Given the description of an element on the screen output the (x, y) to click on. 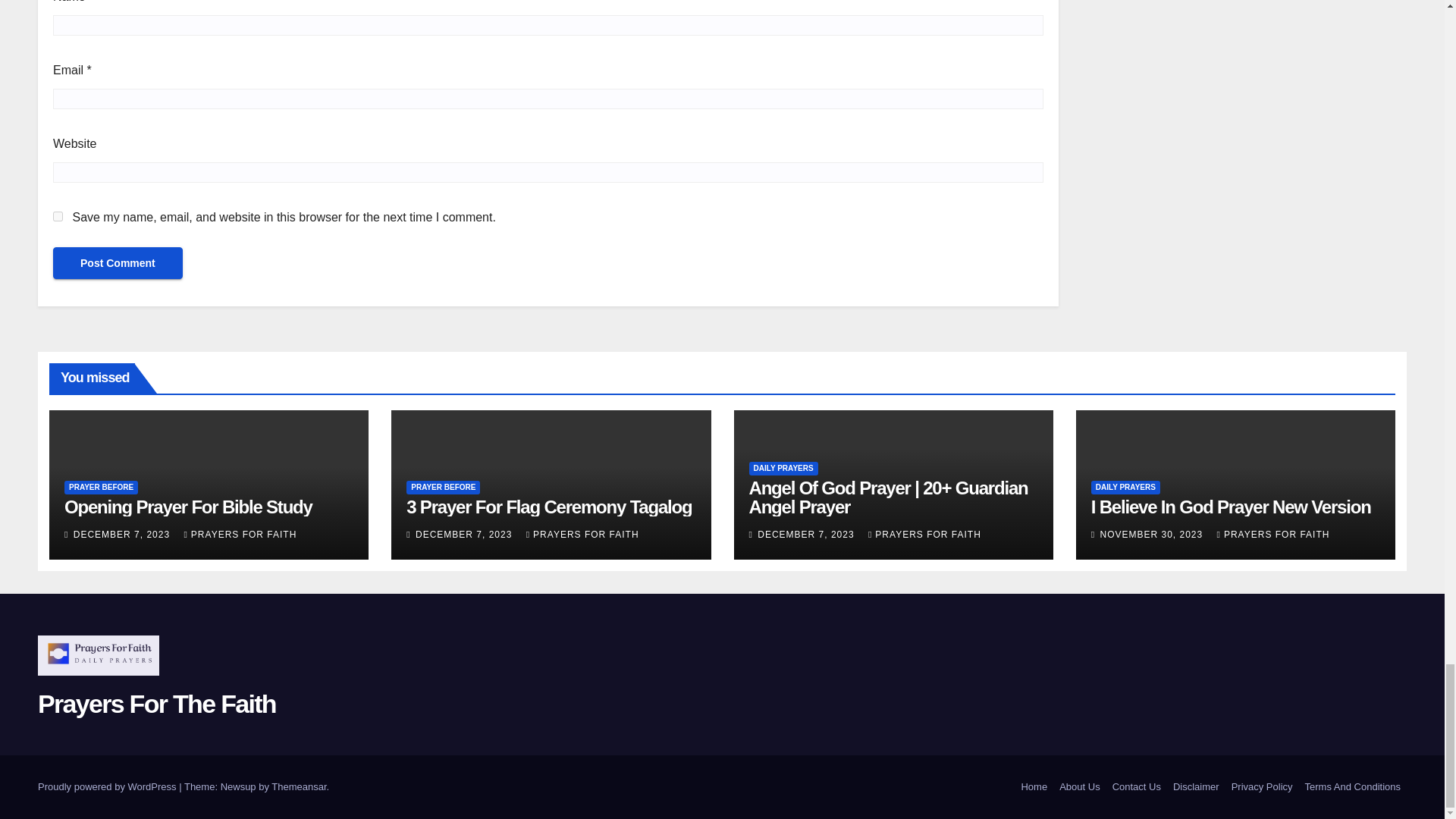
yes (57, 216)
Post Comment (117, 263)
